Given the description of an element on the screen output the (x, y) to click on. 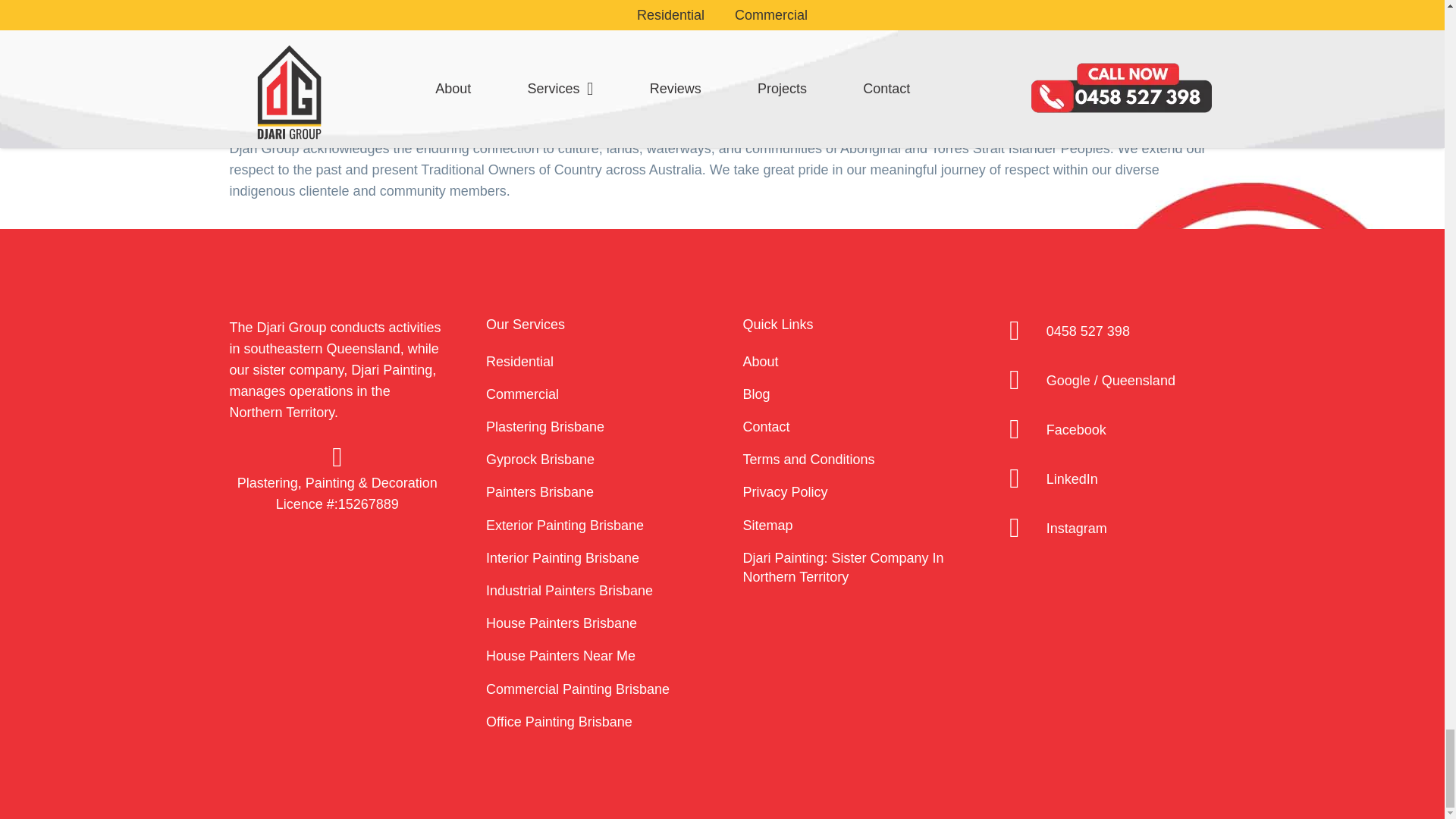
House Painters Near Me (560, 655)
Industrial Painters Brisbane (569, 590)
Commercial (522, 394)
Gyprock Brisbane (540, 459)
Terms and Conditions (808, 459)
Blog (756, 394)
Contact (766, 426)
Residential (519, 361)
Office Painting Brisbane (558, 721)
Exterior Painting Brisbane (564, 525)
Plastering Brisbane (545, 426)
About (760, 361)
Commercial Painting Brisbane (577, 688)
Djari Painting (391, 369)
House Painters Brisbane (561, 622)
